Given the description of an element on the screen output the (x, y) to click on. 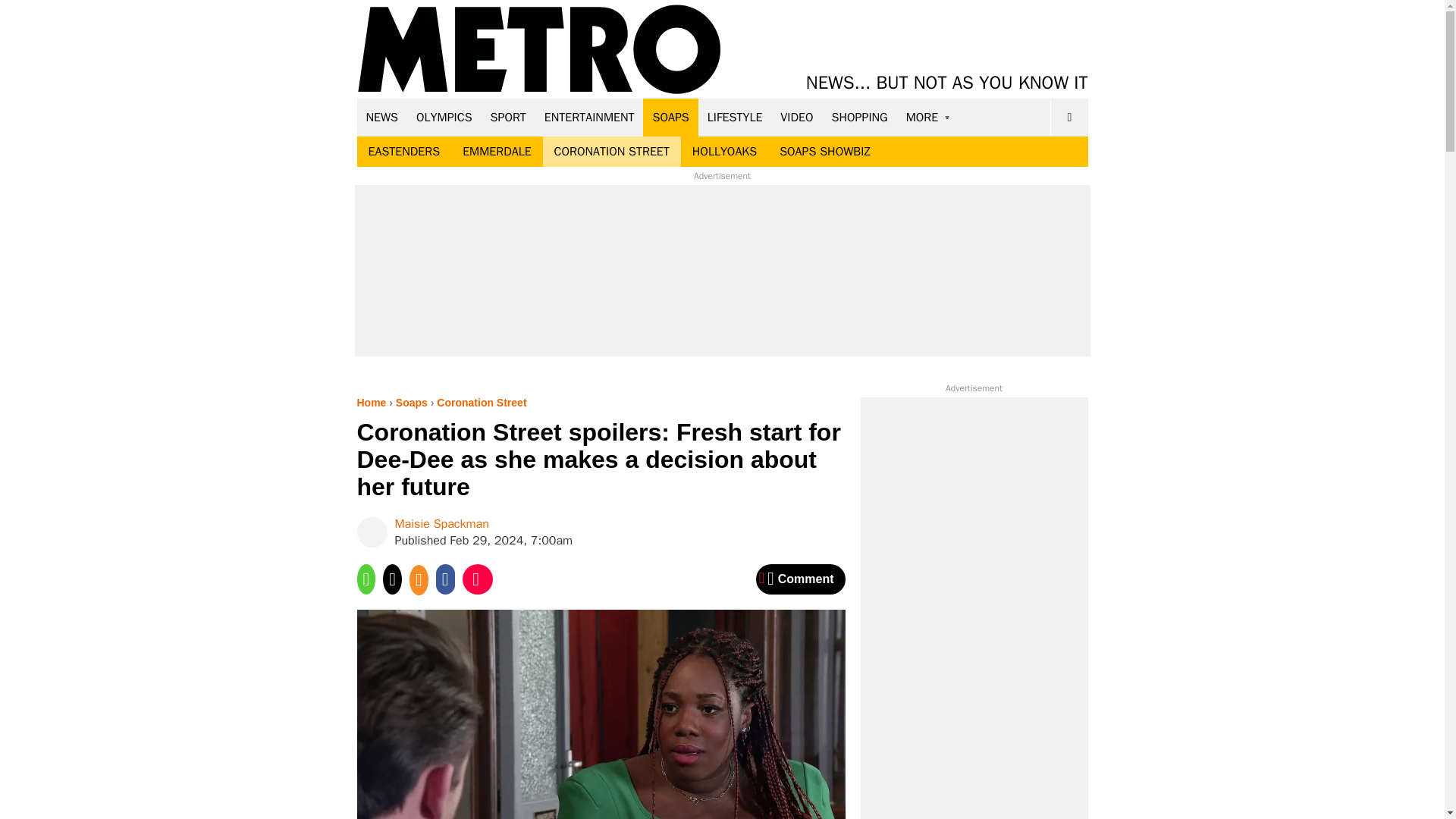
HOLLYOAKS (724, 151)
LIFESTYLE (734, 117)
Metro (539, 50)
SPORT (508, 117)
CORONATION STREET (612, 151)
EASTENDERS (403, 151)
EMMERDALE (496, 151)
SOAPS (670, 117)
OLYMPICS (444, 117)
SOAPS SHOWBIZ (825, 151)
NEWS (381, 117)
ENTERTAINMENT (589, 117)
